Given the description of an element on the screen output the (x, y) to click on. 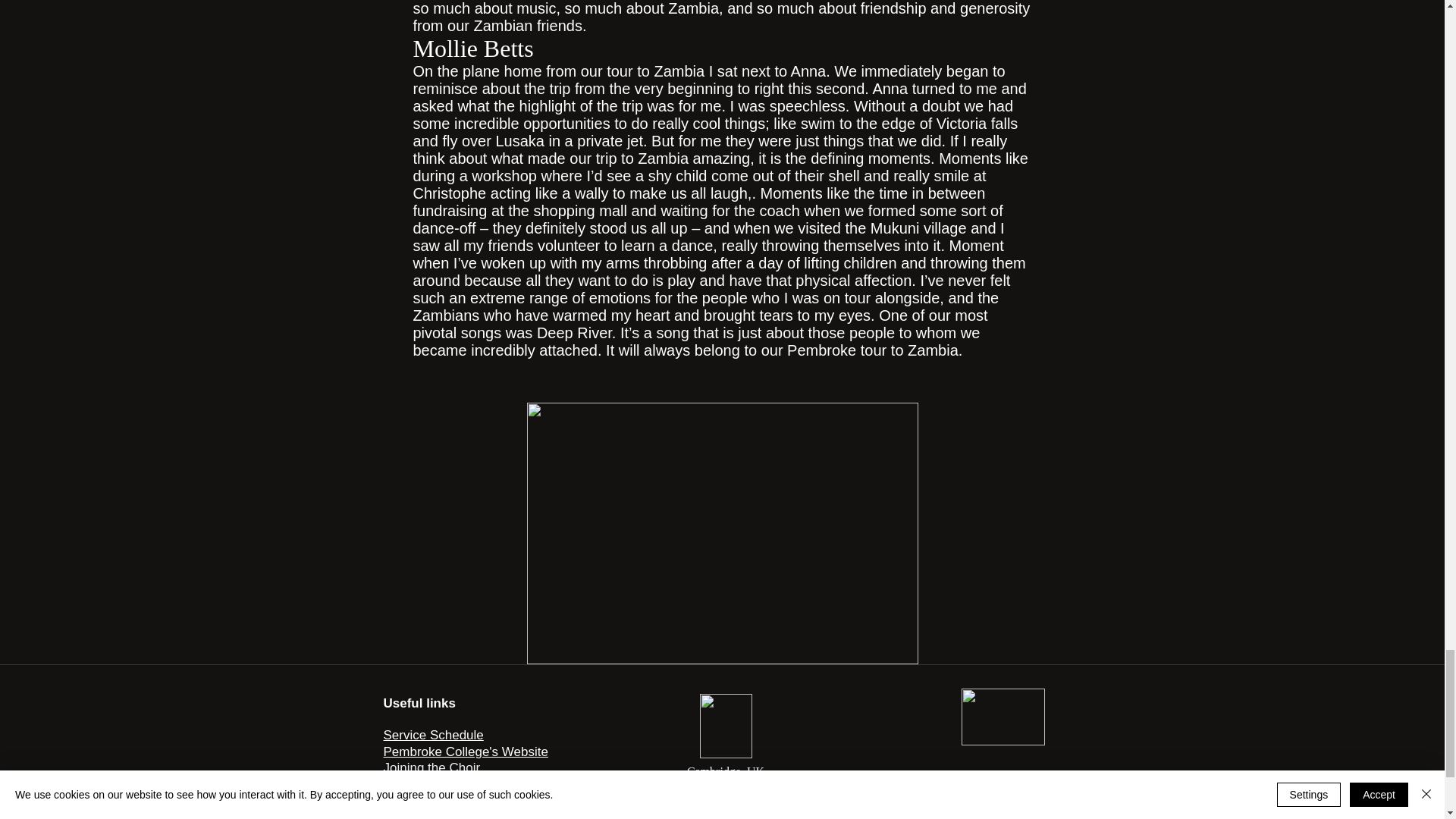
Pembroke College's Website (466, 751)
Service Schedule (433, 735)
